Given the description of an element on the screen output the (x, y) to click on. 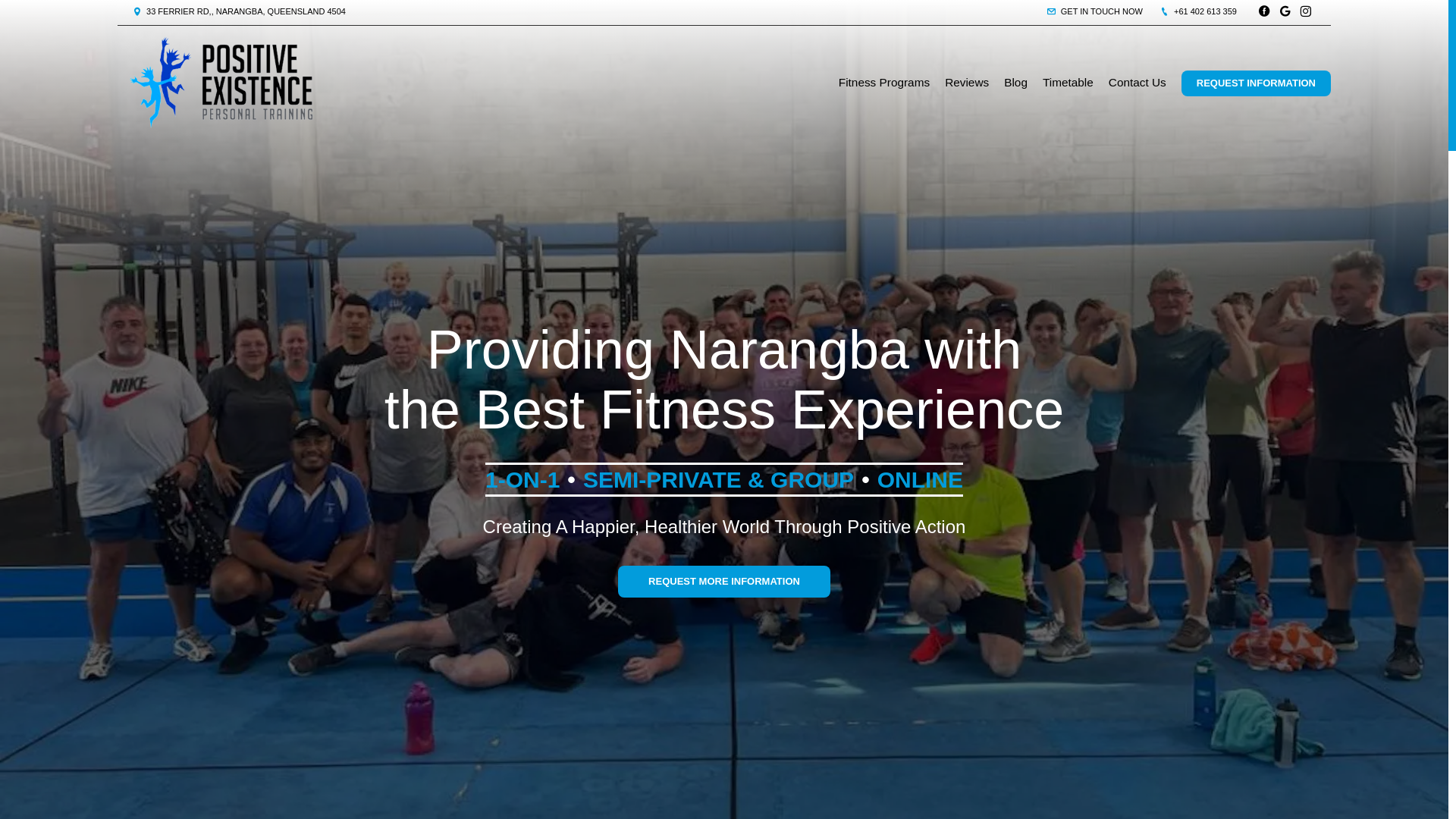
Contact Us Element type: text (1137, 82)
GET IN TOUCH NOW Element type: text (1094, 10)
REQUEST INFORMATION Element type: text (1255, 83)
Blog Element type: text (1015, 82)
Fitness Programs Element type: text (884, 82)
Timetable Element type: text (1068, 82)
REQUEST MORE INFORMATION Element type: text (724, 581)
+61 402 613 359 Element type: text (1198, 10)
Reviews Element type: text (966, 82)
